Given the description of an element on the screen output the (x, y) to click on. 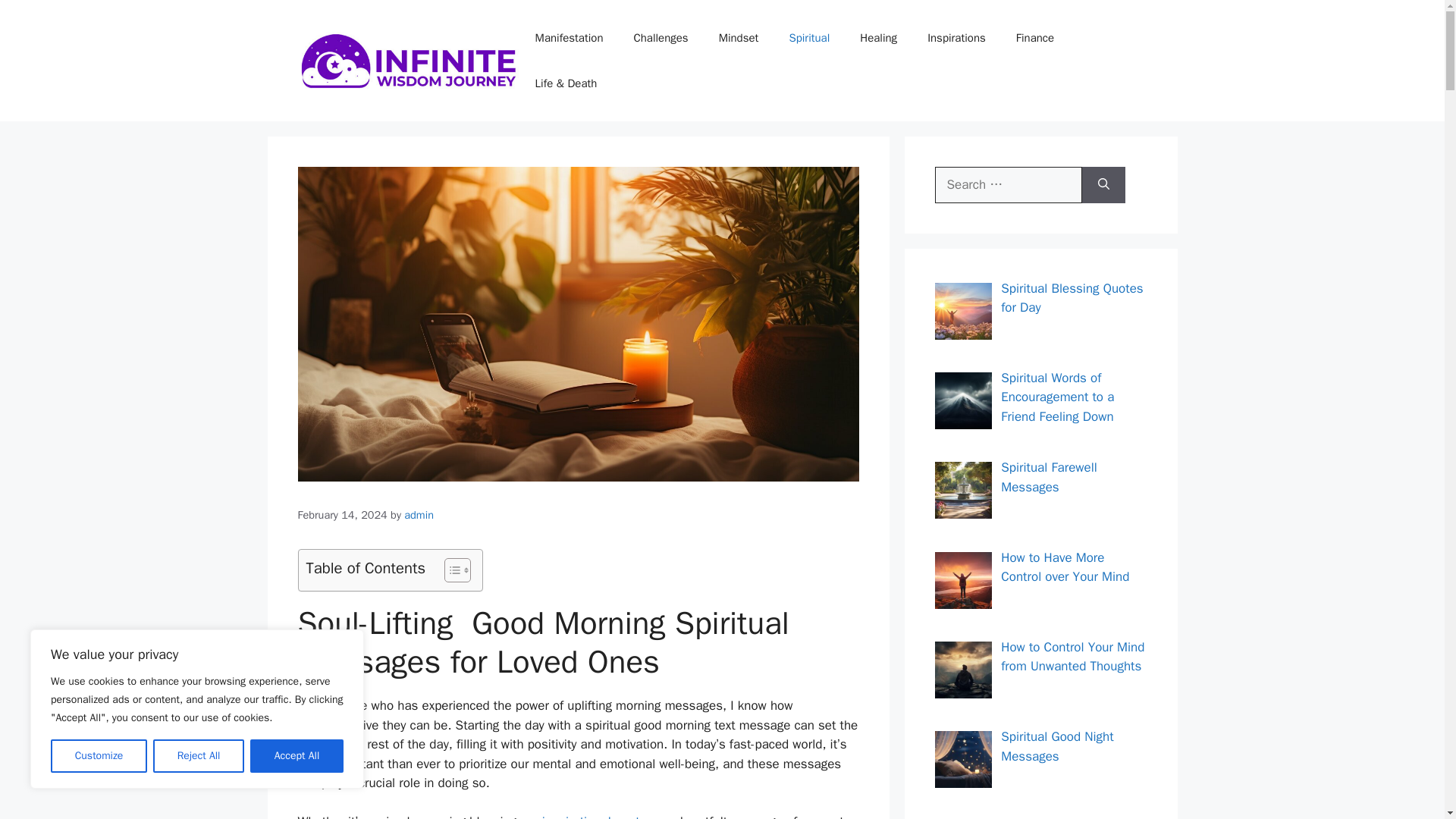
admin (418, 514)
Reject All (198, 756)
Mindset (738, 37)
Customize (98, 756)
Accept All (296, 756)
Finance (1034, 37)
Inspirations (956, 37)
Manifestation (568, 37)
Spiritual (808, 37)
View all posts by admin (418, 514)
